Given the description of an element on the screen output the (x, y) to click on. 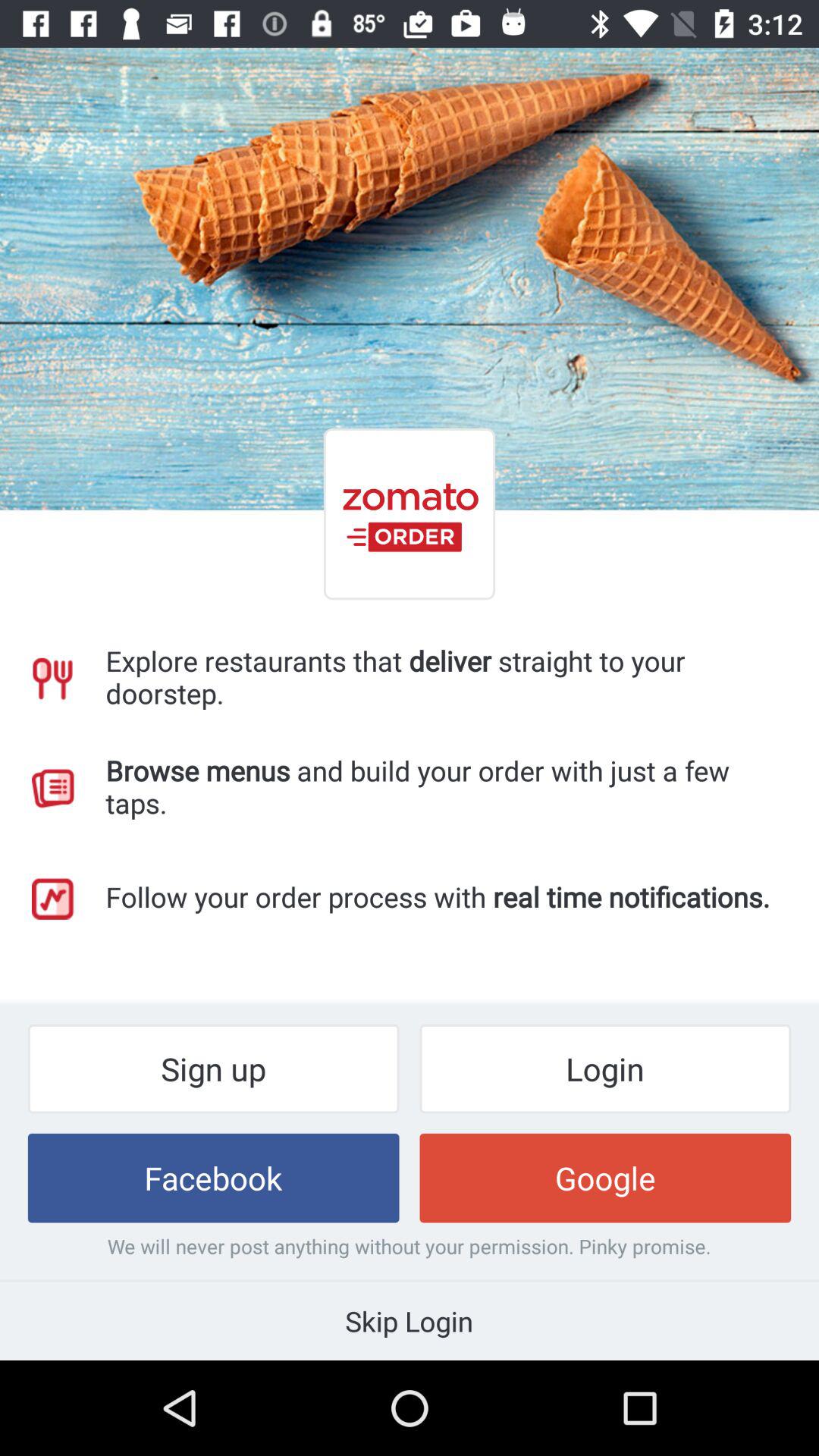
press item above the we will never (213, 1177)
